Given the description of an element on the screen output the (x, y) to click on. 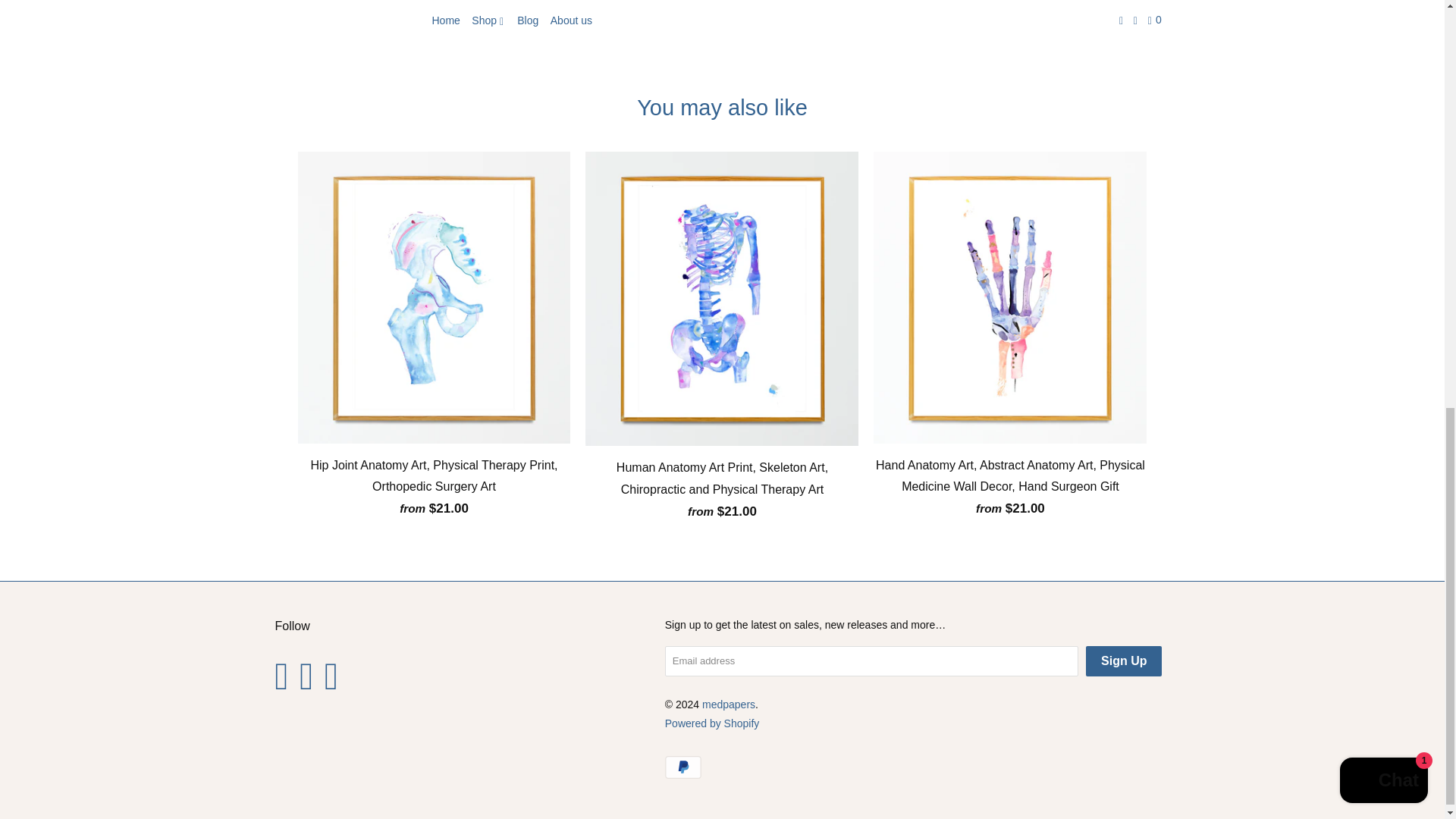
PayPal (684, 766)
Sign Up (1123, 661)
